Given the description of an element on the screen output the (x, y) to click on. 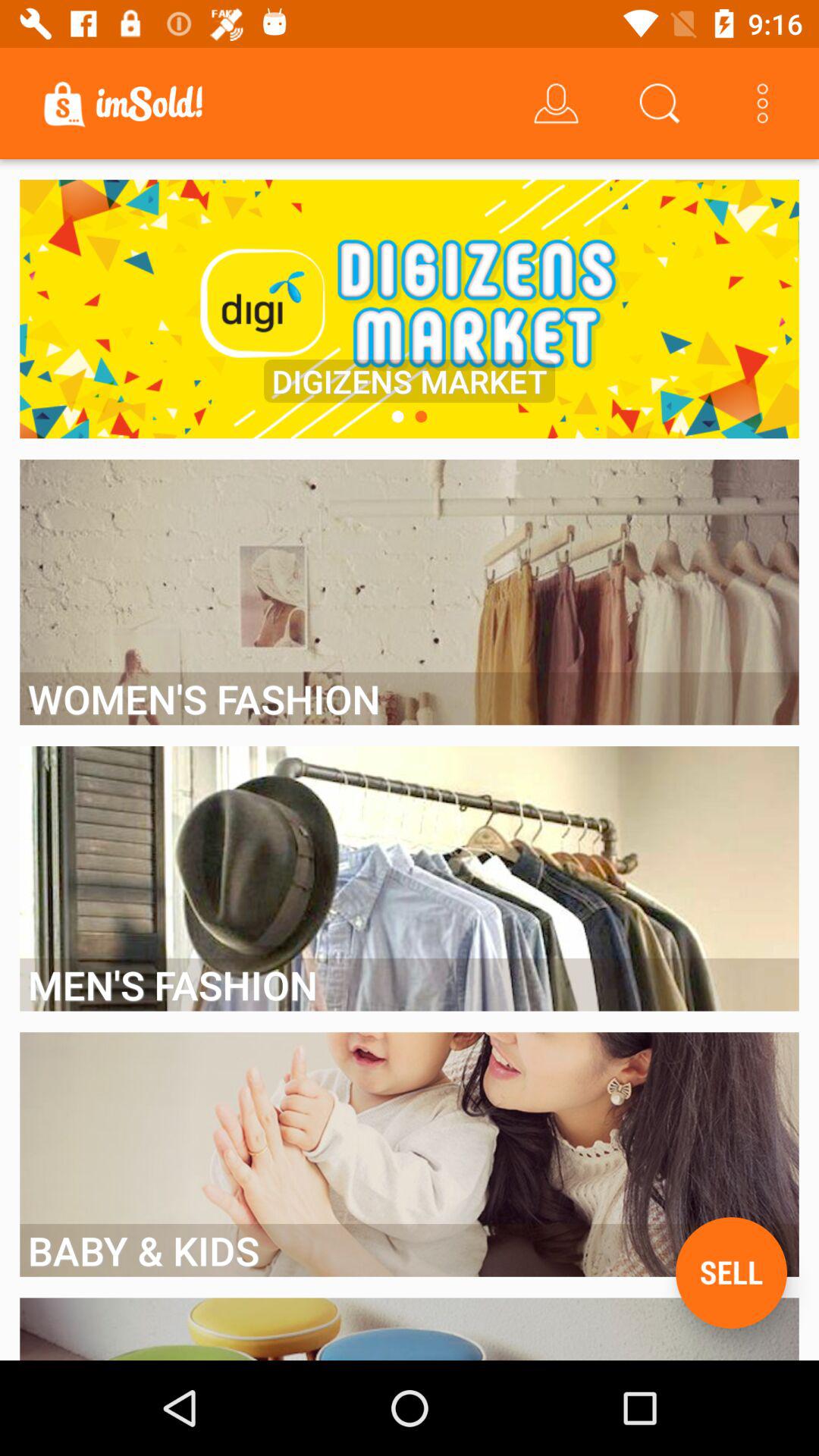
list item to sell (731, 1272)
